Given the description of an element on the screen output the (x, y) to click on. 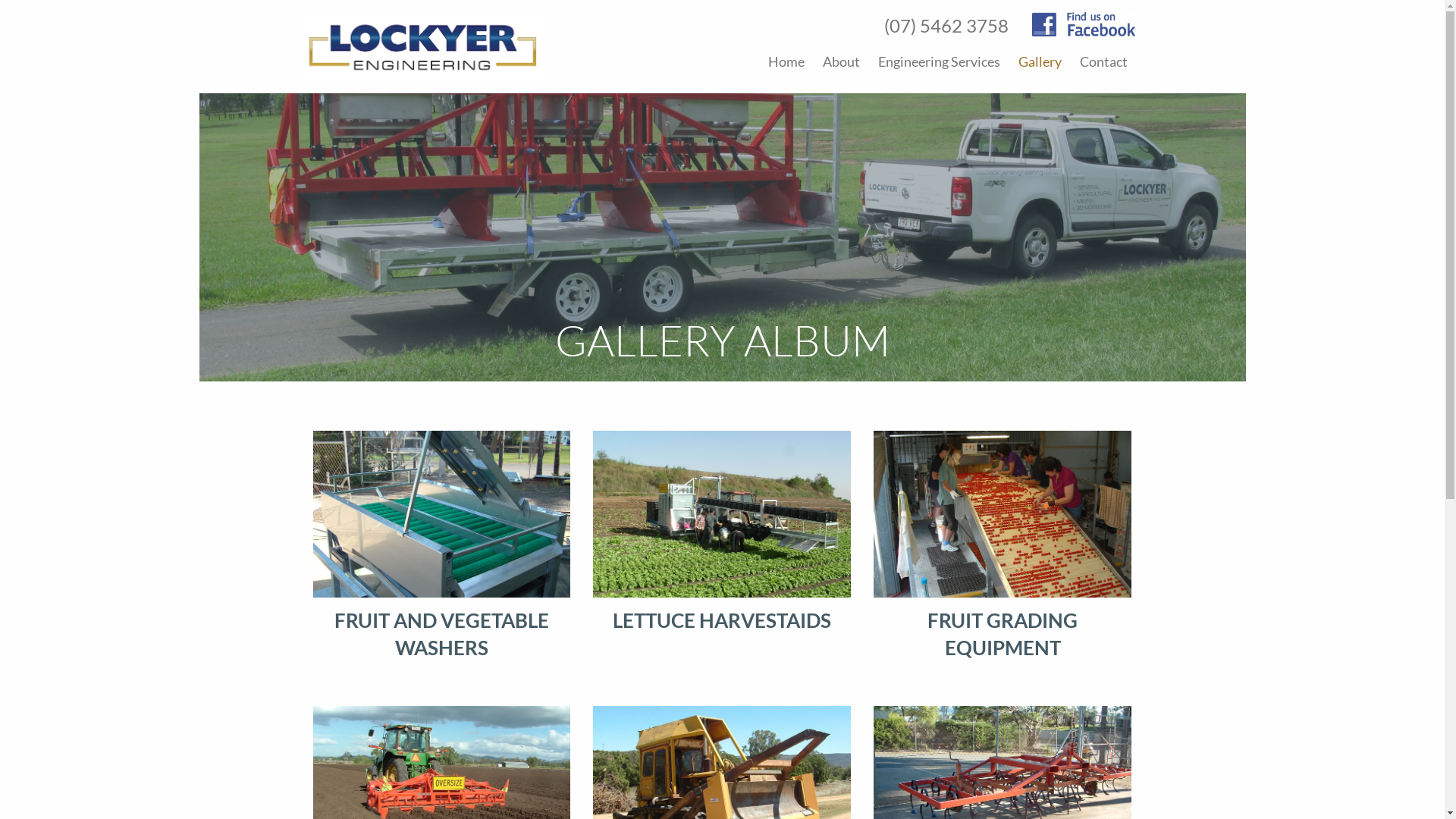
Home Element type: text (785, 61)
About Element type: text (840, 61)
LETTUCE HARVESTAIDS Element type: text (721, 531)
(07) 5462 3758 Element type: text (946, 25)
Contact Element type: text (1103, 61)
FRUIT GRADING EQUIPMENT Element type: text (1002, 546)
Engineering Services Element type: text (939, 61)
Gallery Element type: text (1039, 61)
FRUIT AND VEGETABLE WASHERS Element type: text (441, 546)
